Given the description of an element on the screen output the (x, y) to click on. 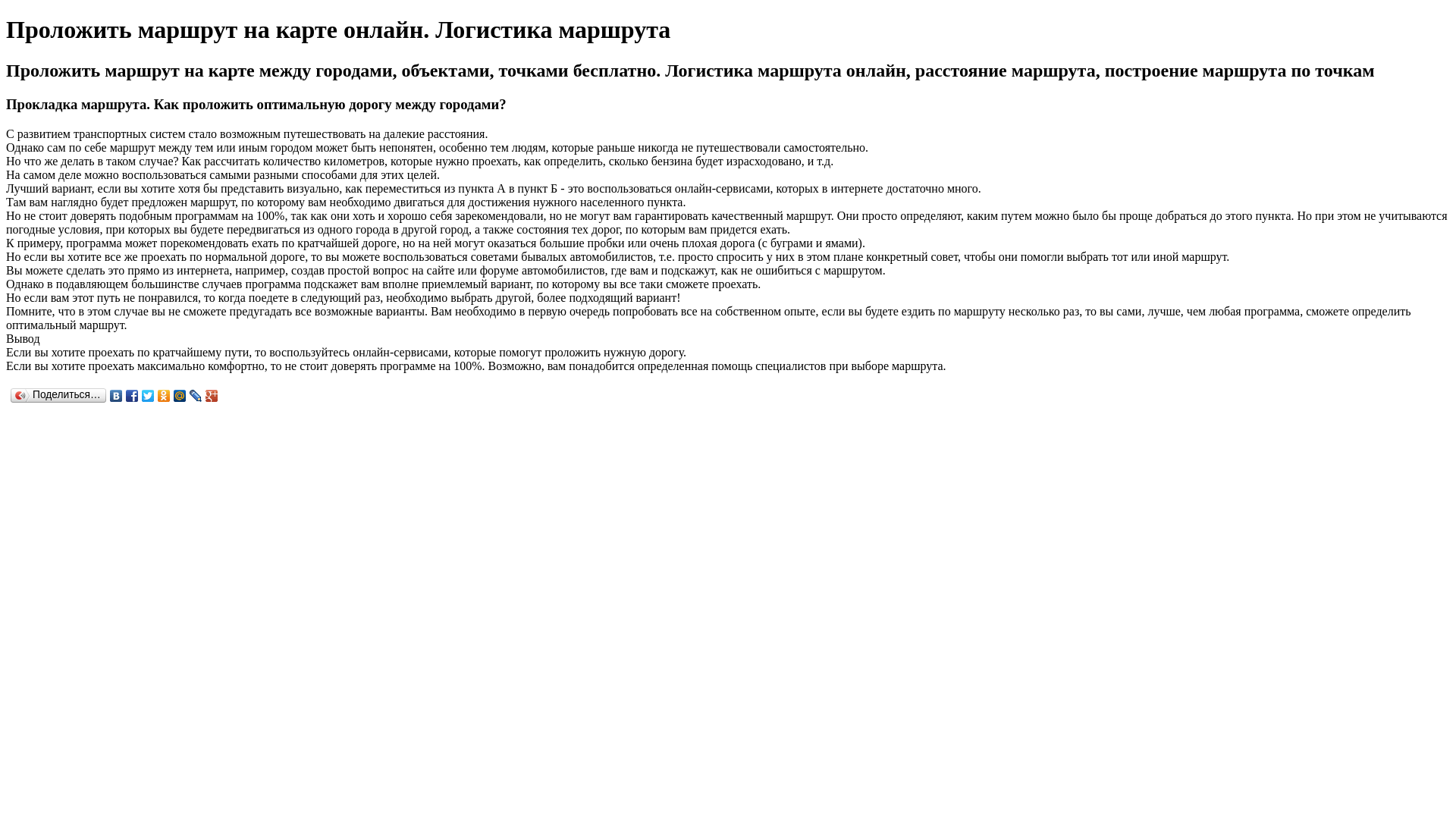
Facebook Element type: hover (132, 394)
LiveJournal Element type: hover (195, 394)
Google Plus Element type: hover (211, 394)
Twitter Element type: hover (148, 394)
